Given the description of an element on the screen output the (x, y) to click on. 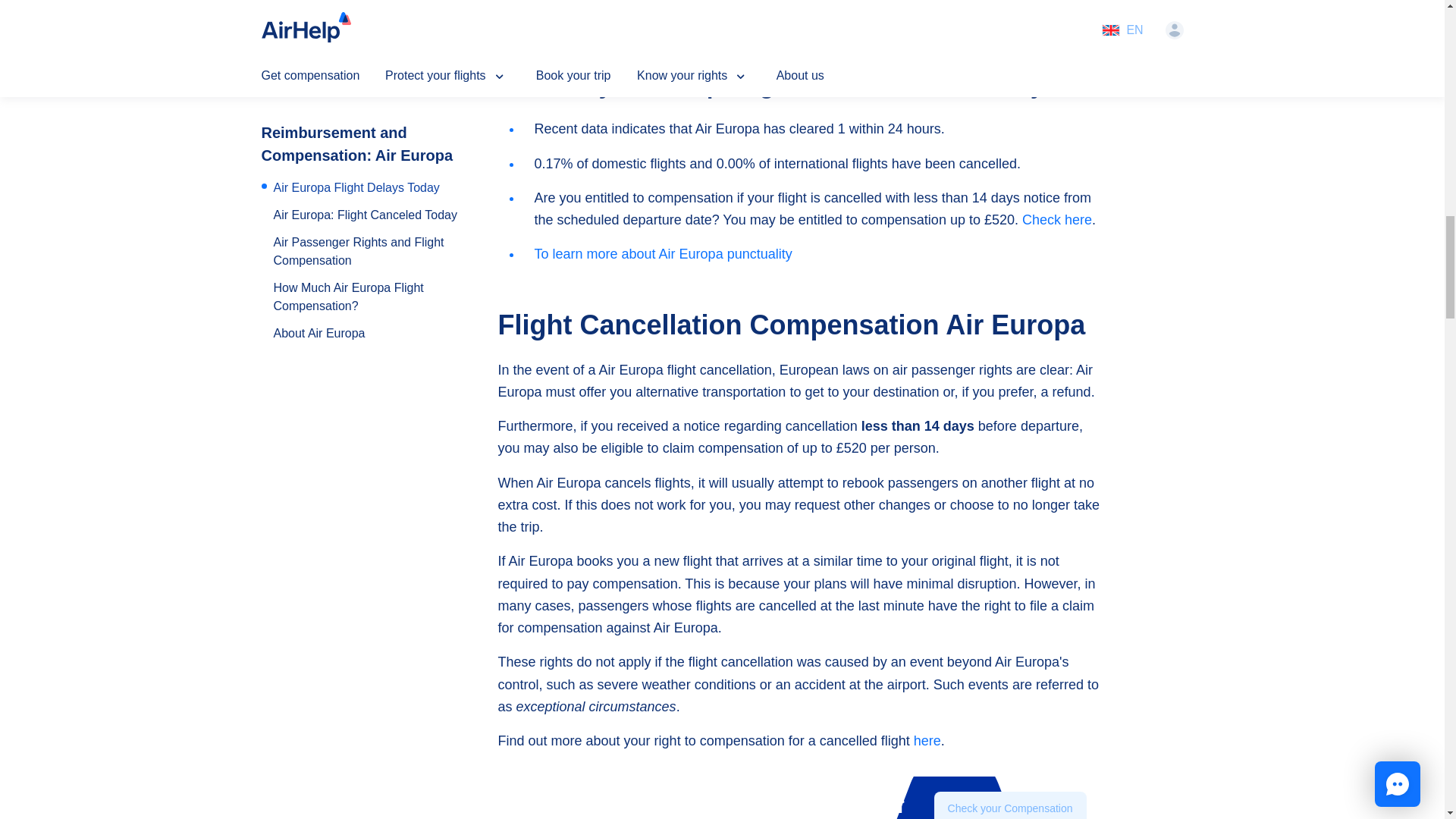
To learn more about Air Europa punctuality (663, 253)
here (927, 740)
Check your Compensation (1010, 805)
Check your Compensation (1010, 805)
Check here (1057, 219)
